Given the description of an element on the screen output the (x, y) to click on. 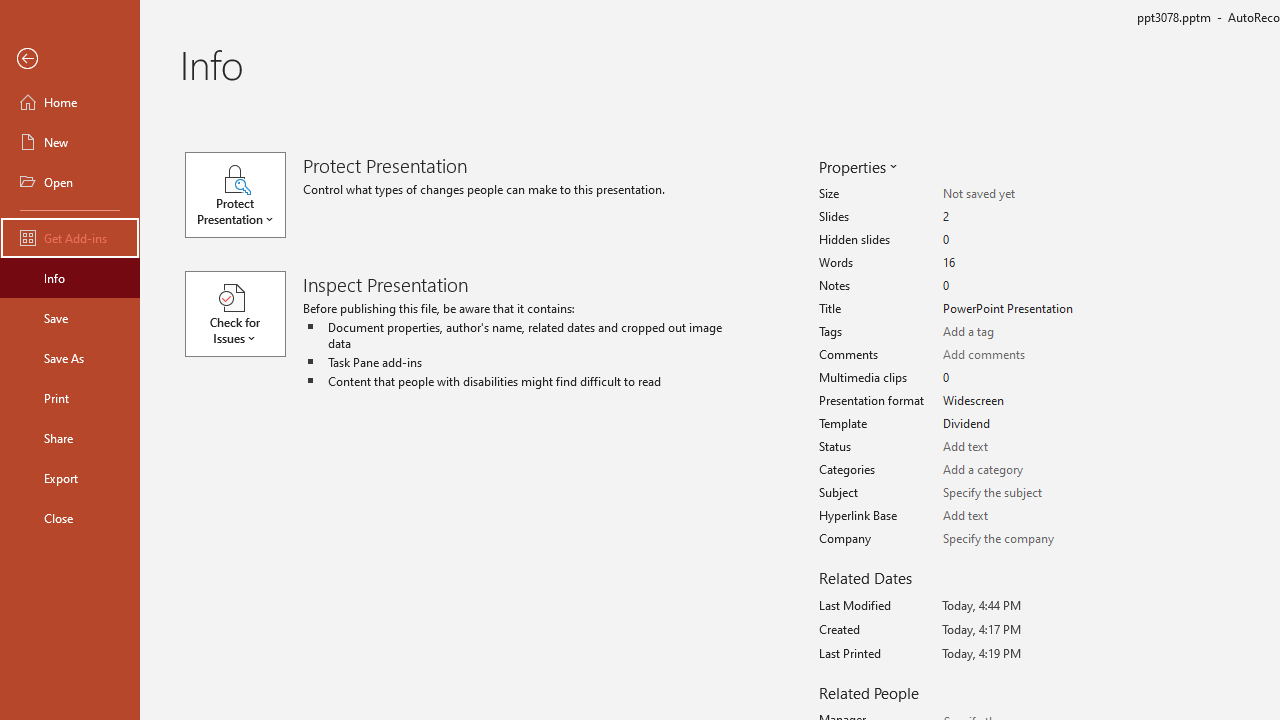
Size (1012, 194)
Title (1012, 309)
